Given the description of an element on the screen output the (x, y) to click on. 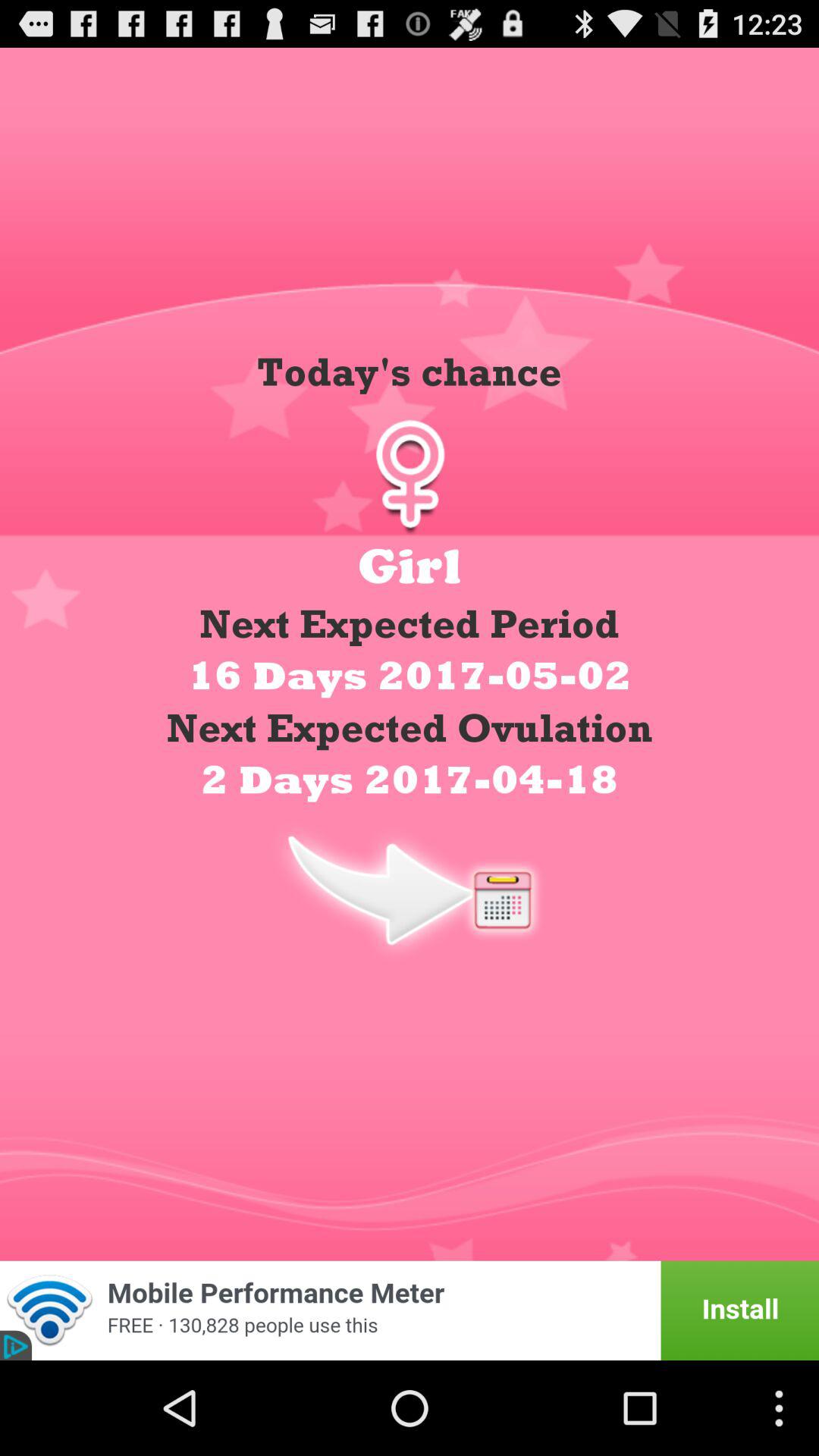
banner advertisement (409, 1310)
